Given the description of an element on the screen output the (x, y) to click on. 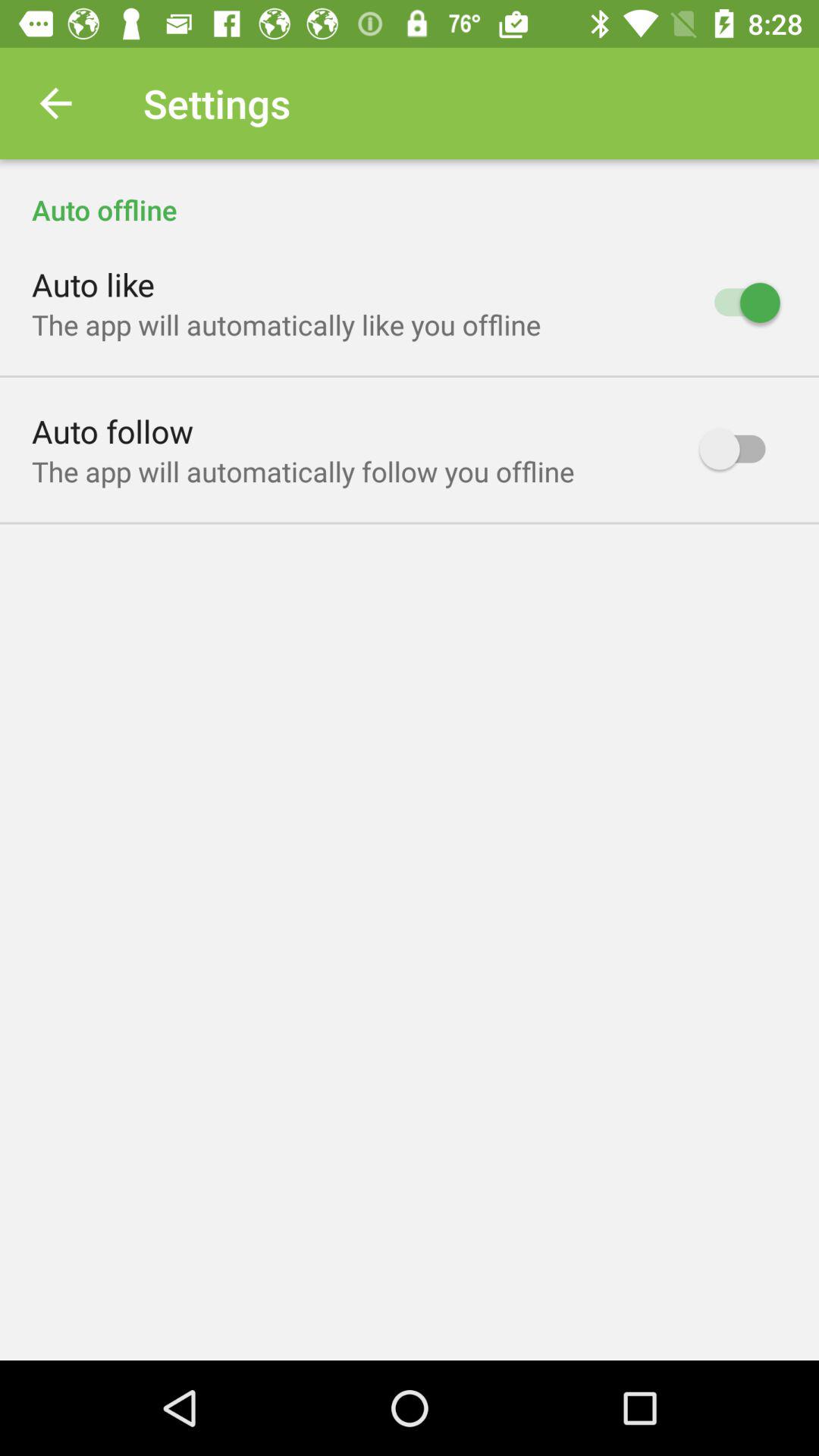
click the icon to the left of settings item (55, 103)
